Given the description of an element on the screen output the (x, y) to click on. 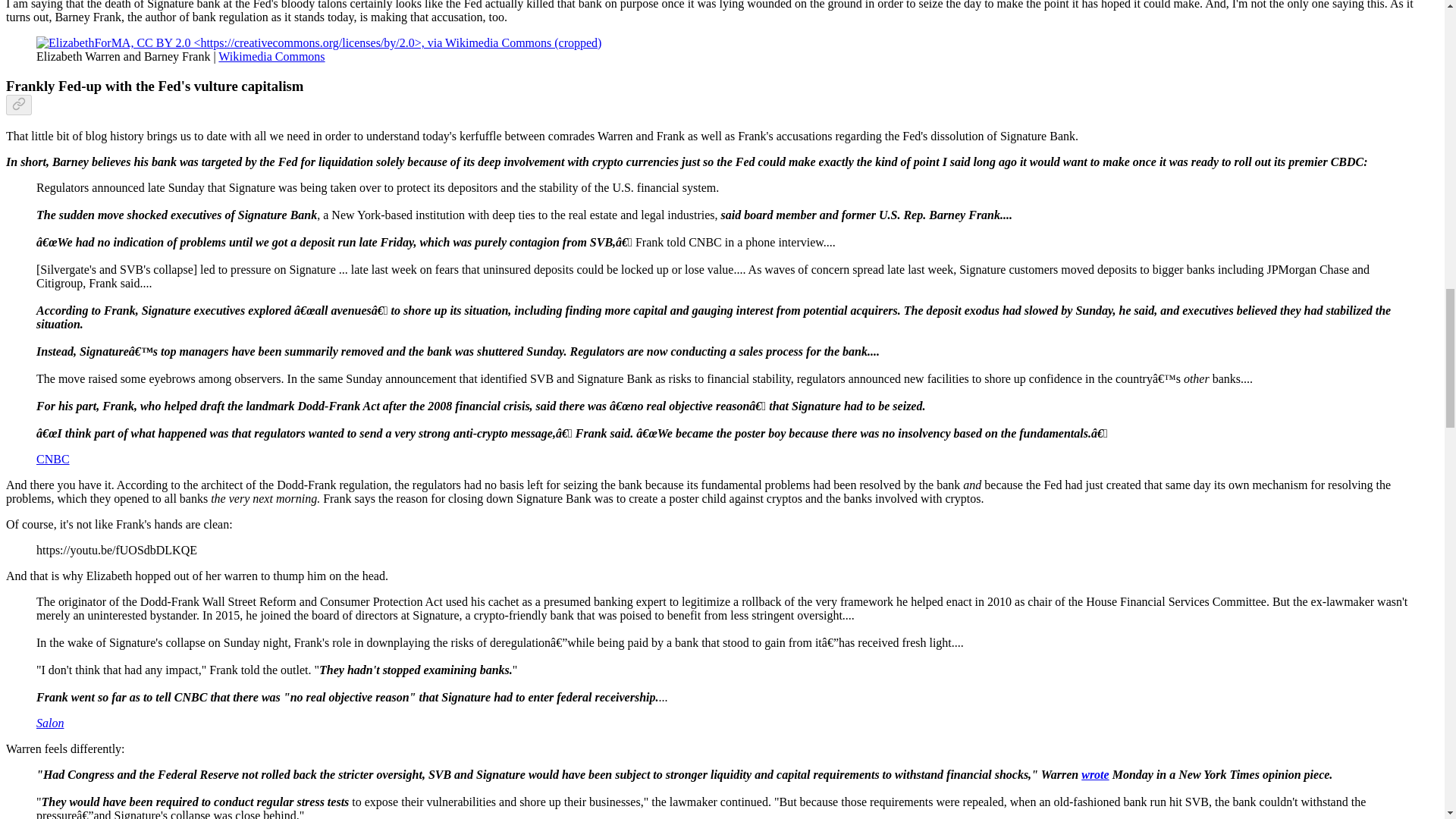
wrote (1094, 774)
Salon (50, 722)
CNBC (52, 459)
Wikimedia Commons (271, 56)
